Given the description of an element on the screen output the (x, y) to click on. 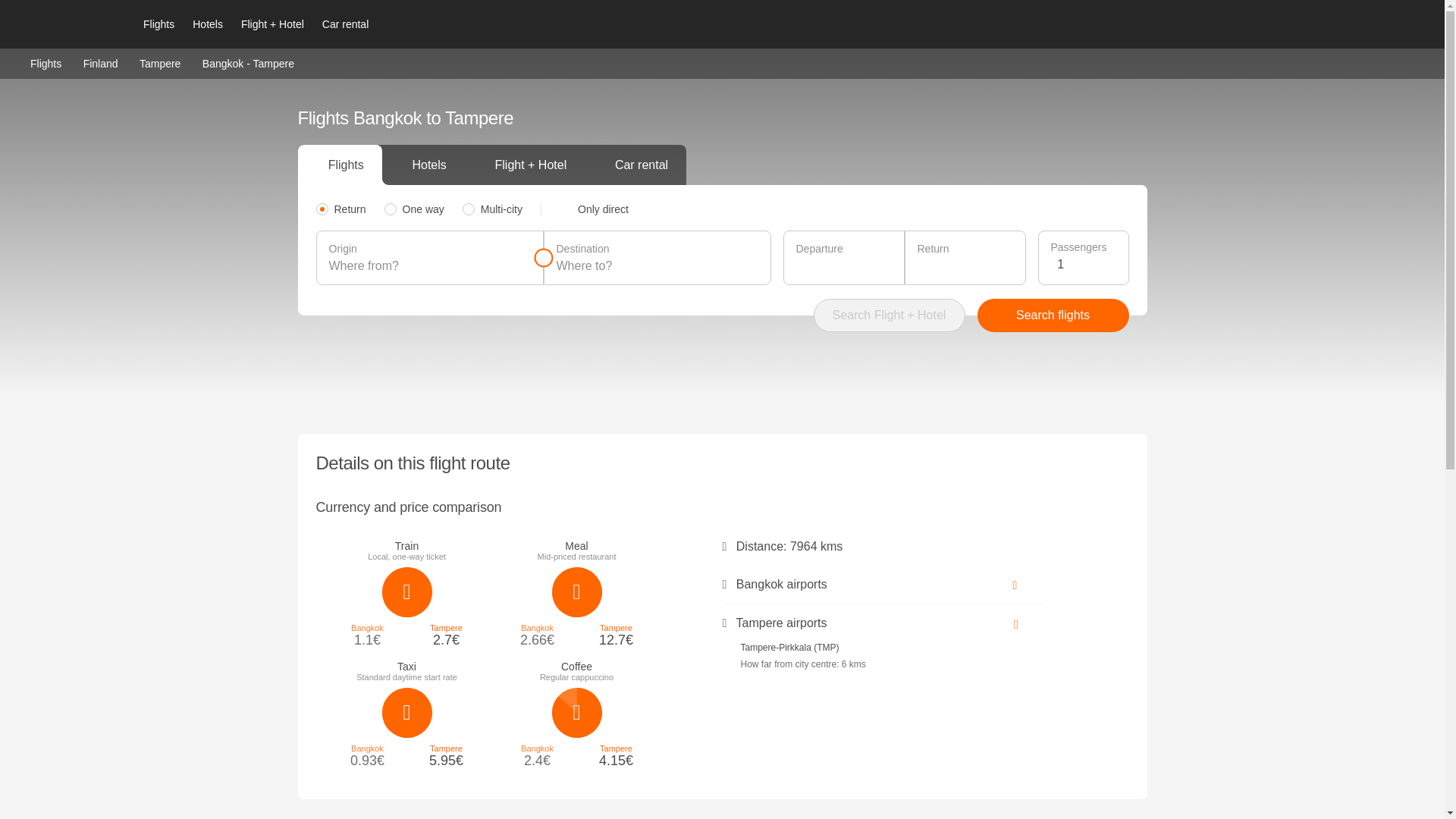
Flights (158, 24)
1 (1086, 263)
Finland (99, 62)
Search flights (1052, 315)
Car rental (345, 24)
Hotels (207, 24)
Tampere (159, 62)
Flights (45, 62)
Bangkok - Tampere (248, 63)
